Given the description of an element on the screen output the (x, y) to click on. 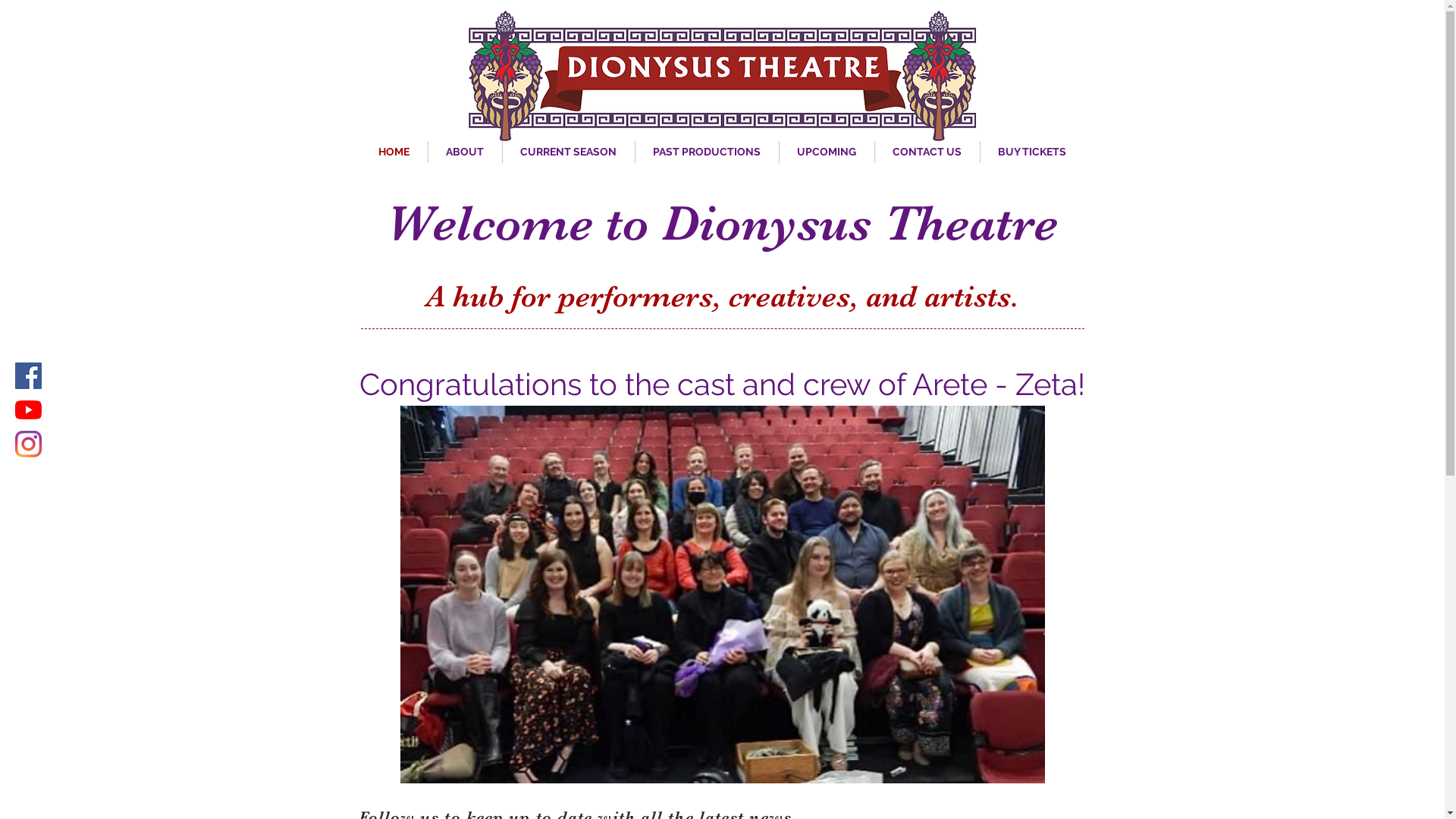
UPCOMING Element type: text (826, 152)
CURRENT SEASON Element type: text (567, 152)
ABOUT Element type: text (464, 152)
BUY TICKETS Element type: text (1031, 152)
CONTACT US Element type: text (927, 152)
HOME Element type: text (393, 152)
PAST PRODUCTIONS Element type: text (706, 152)
